Given the description of an element on the screen output the (x, y) to click on. 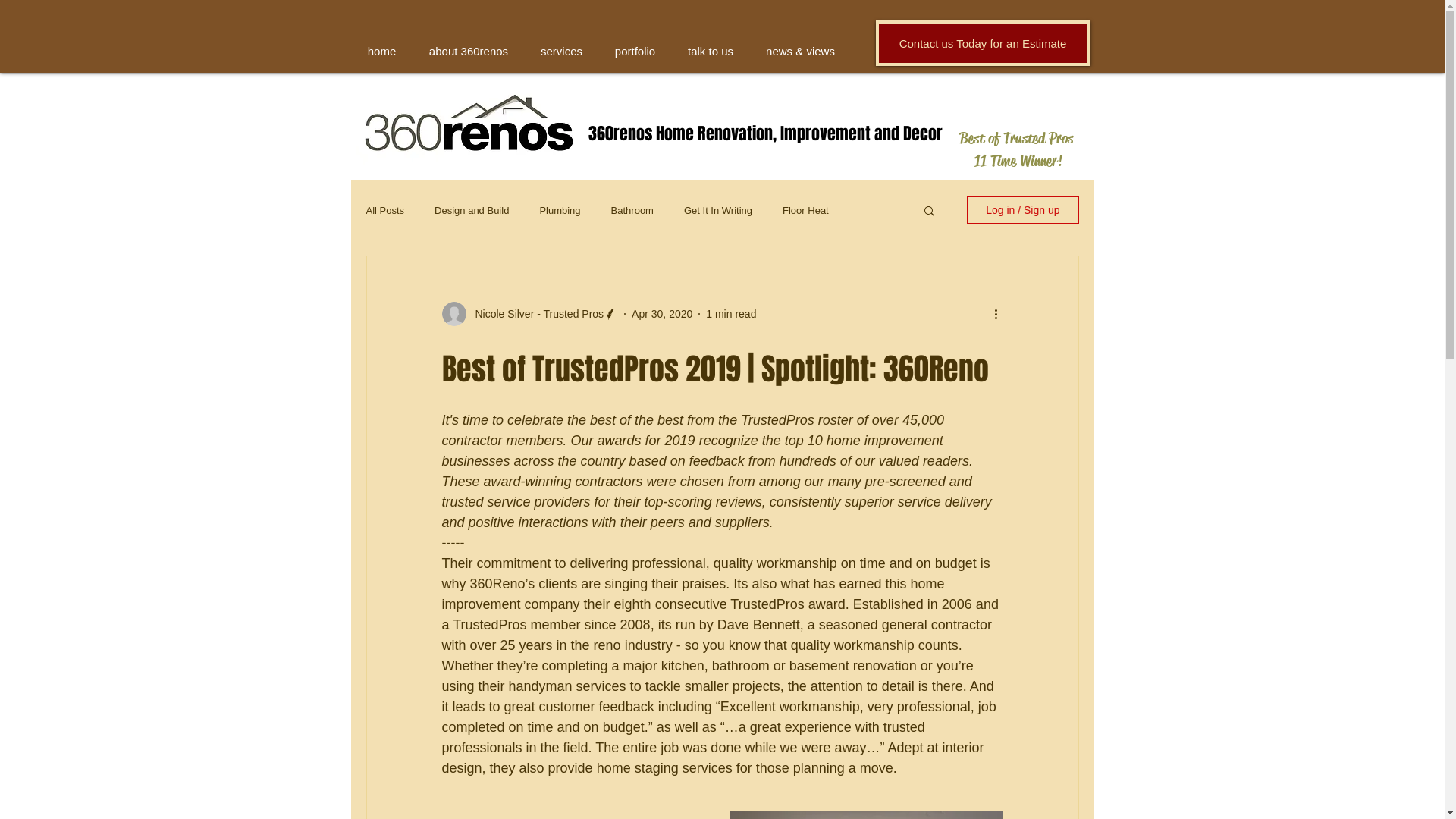
talk to us Element type: text (710, 51)
Get It In Writing Element type: text (718, 210)
about 360renos Element type: text (468, 51)
home Element type: text (381, 51)
Contact us Today for an Estimate Element type: text (982, 42)
news & views Element type: text (799, 51)
Log in / Sign up Element type: text (1022, 209)
Plumbing Element type: text (559, 210)
services Element type: text (561, 51)
Floor Heat Element type: text (805, 210)
portfolio Element type: text (635, 51)
All Posts Element type: text (384, 210)
Design and Build Element type: text (471, 210)
Bathroom Element type: text (632, 210)
